Given the description of an element on the screen output the (x, y) to click on. 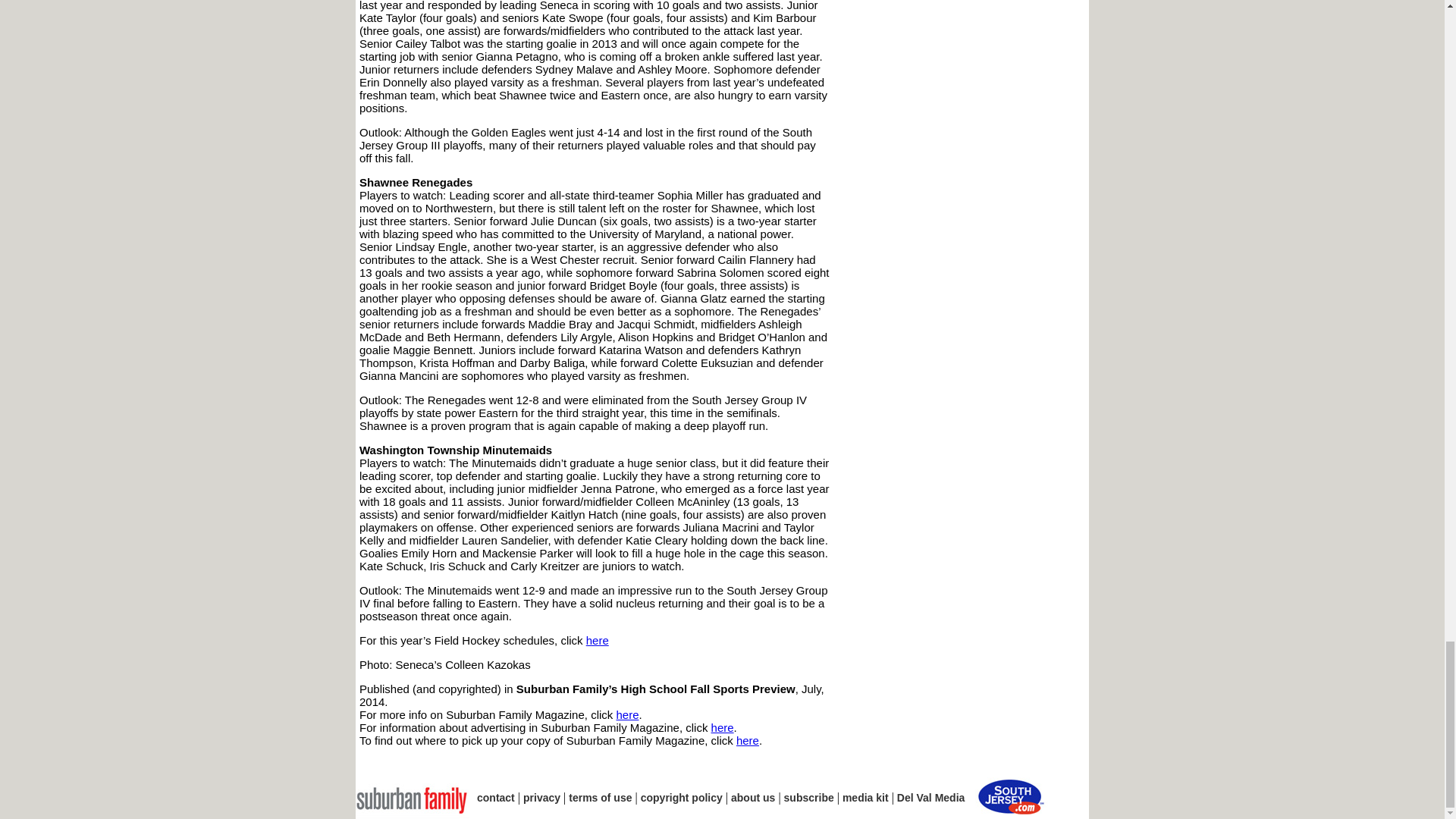
here (747, 739)
privacy (541, 797)
here (722, 727)
here (597, 640)
contact (496, 797)
here (627, 714)
